Given the description of an element on the screen output the (x, y) to click on. 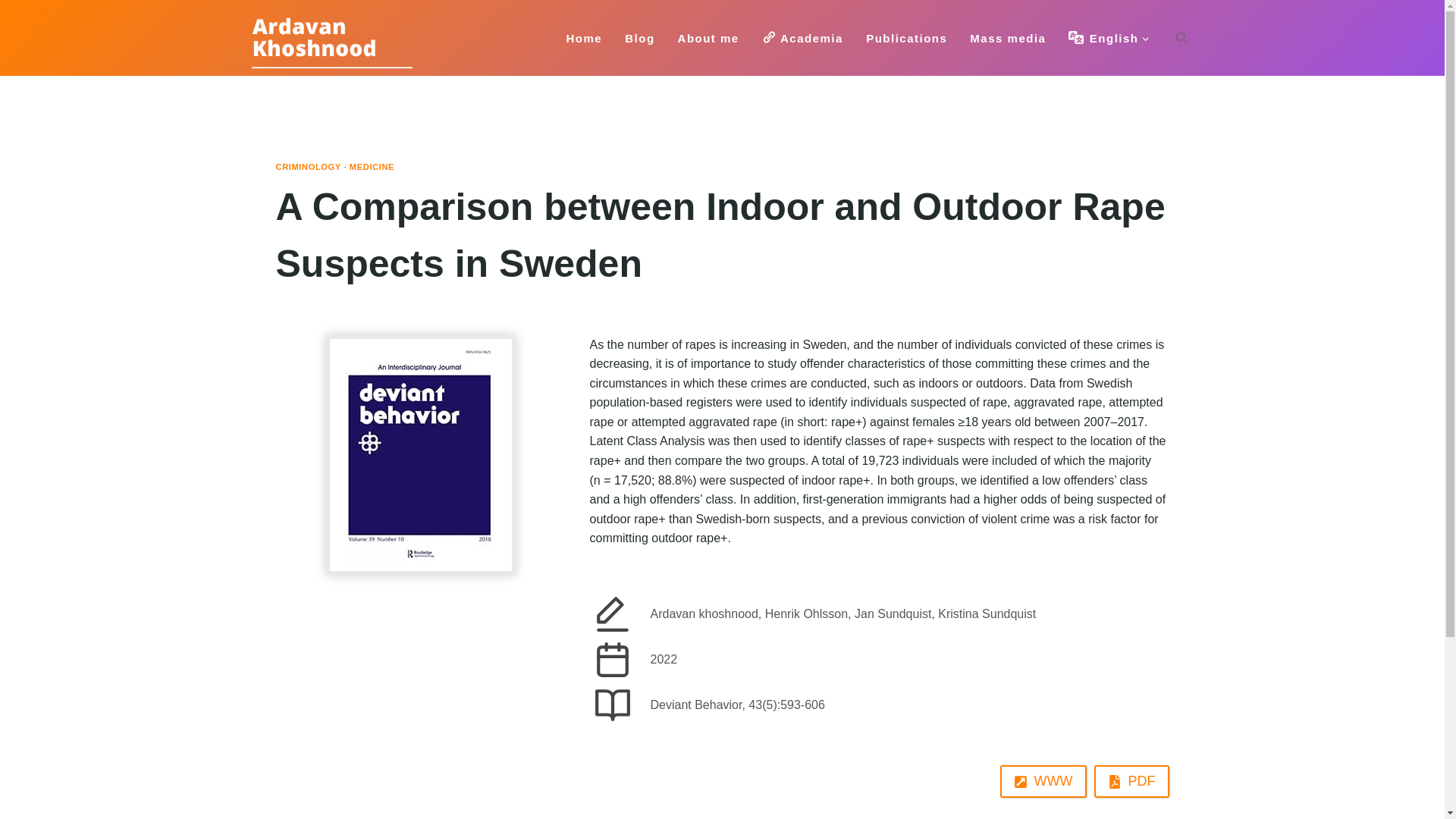
CRIMINOLOGY (308, 166)
MEDICINE (371, 166)
WWW (1043, 780)
Home (584, 37)
About me (708, 37)
Publications (906, 37)
Mass media (1007, 37)
English (1108, 37)
PDF (1131, 780)
Academia (802, 37)
Blog (638, 37)
